Given the description of an element on the screen output the (x, y) to click on. 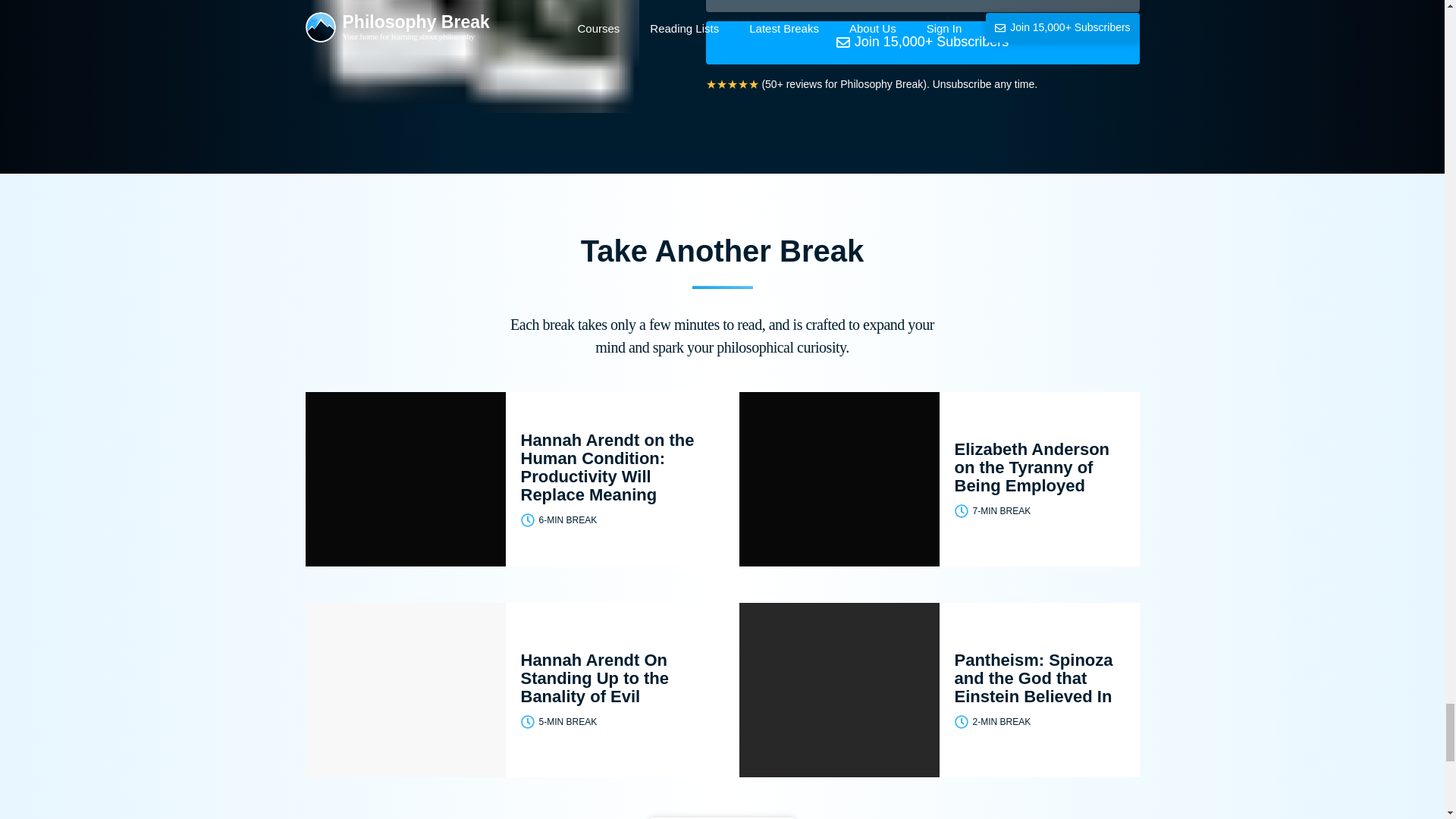
View All Breaks (721, 818)
